Given the description of an element on the screen output the (x, y) to click on. 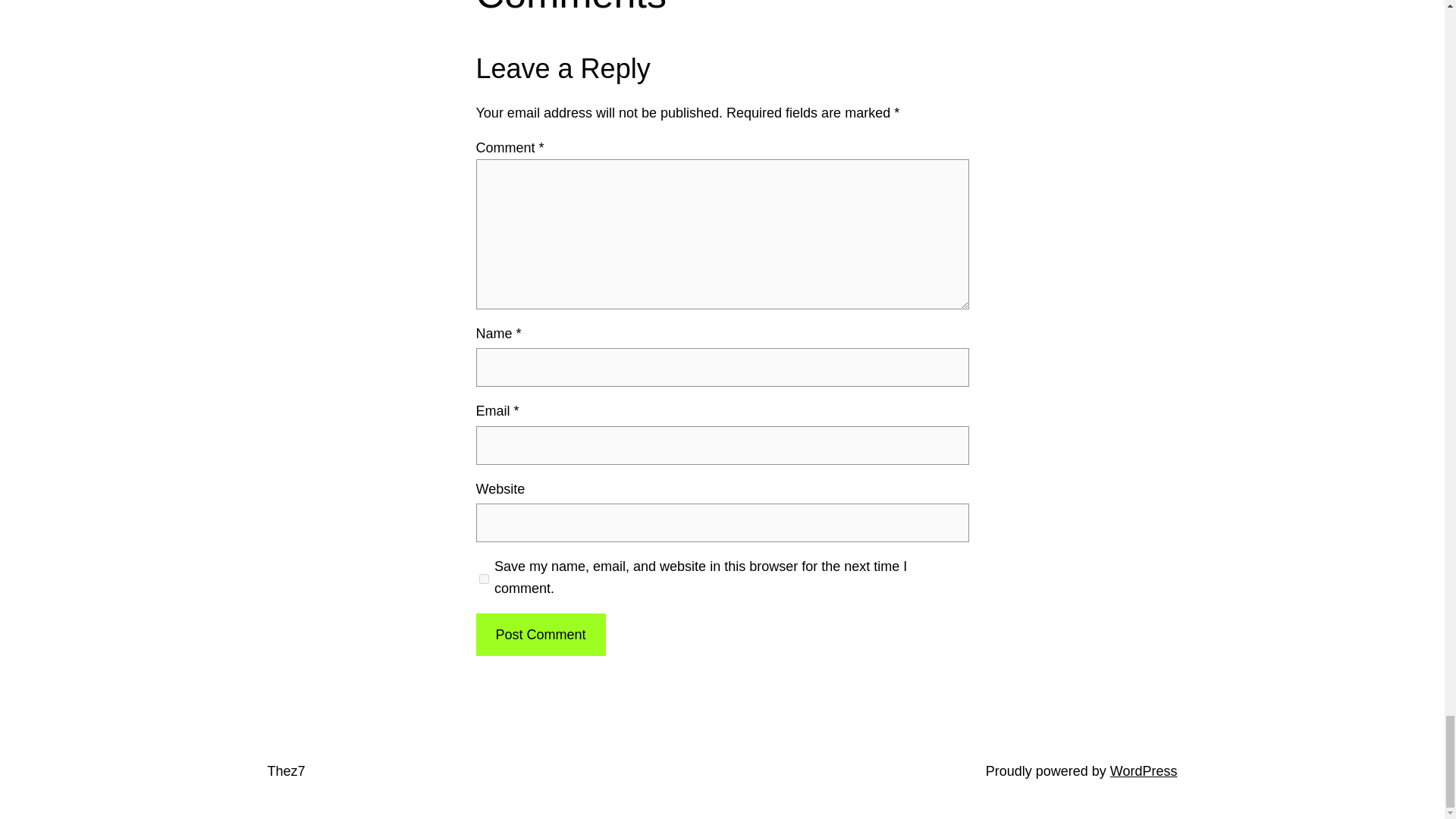
WordPress (1143, 770)
Post Comment (540, 634)
Thez7 (285, 770)
Post Comment (540, 634)
